Given the description of an element on the screen output the (x, y) to click on. 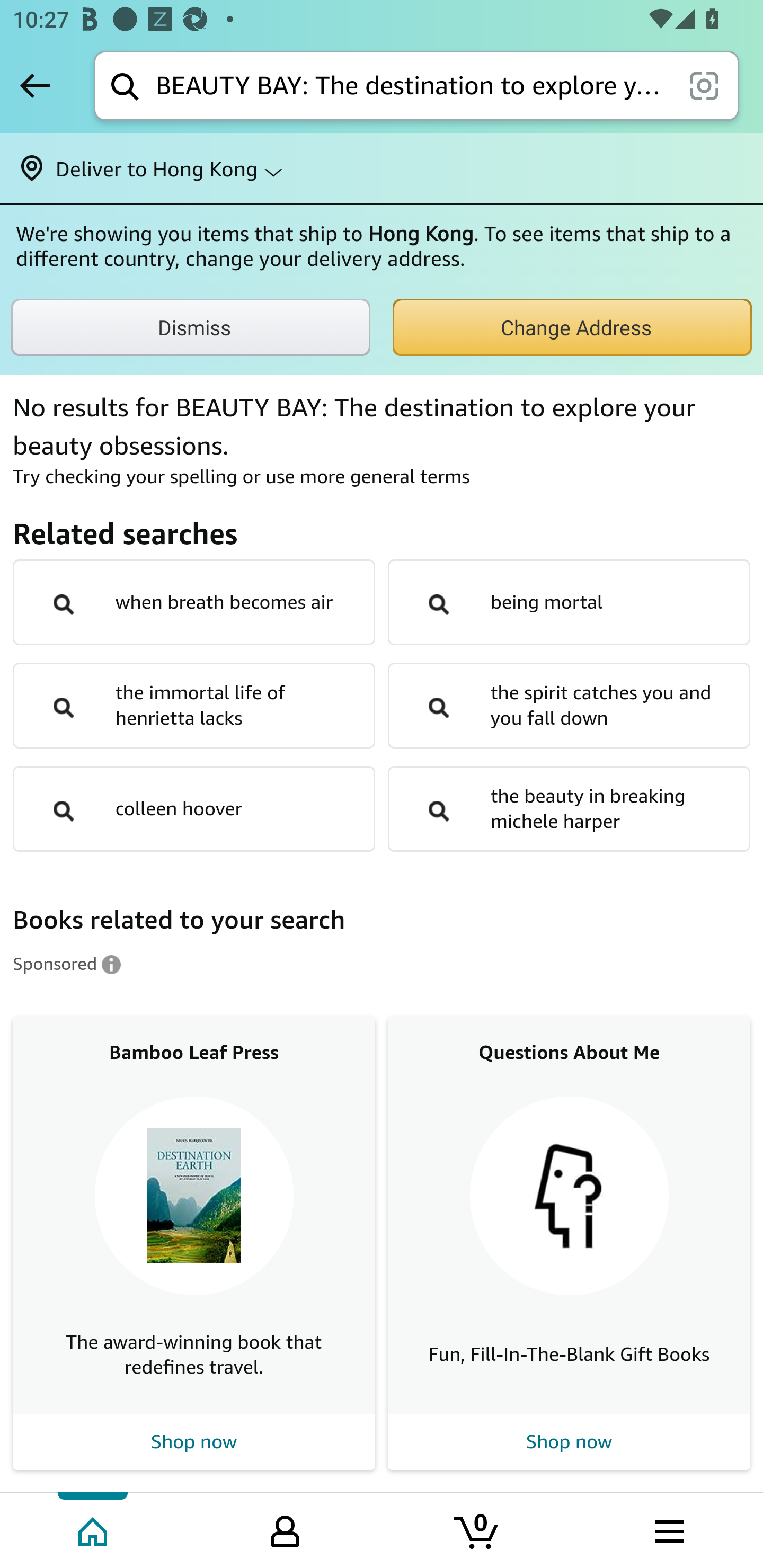
Back (35, 85)
scan it (704, 85)
Deliver to Hong Kong ⌵ (381, 168)
Dismiss (190, 327)
Change Address (571, 327)
when breath becomes air (193, 602)
being mortal (568, 602)
the immortal life of henrietta lacks (193, 705)
the spirit catches you and you fall down (568, 705)
colleen hoover (193, 809)
the beauty in breaking michele harper (568, 809)
Leave feedback on Sponsored ad (67, 963)
Home Tab 1 of 4 (94, 1529)
Your Amazon.com Tab 2 of 4 (285, 1529)
Cart 0 item Tab 3 of 4 0 (477, 1529)
Browse menu Tab 4 of 4 (668, 1529)
